Given the description of an element on the screen output the (x, y) to click on. 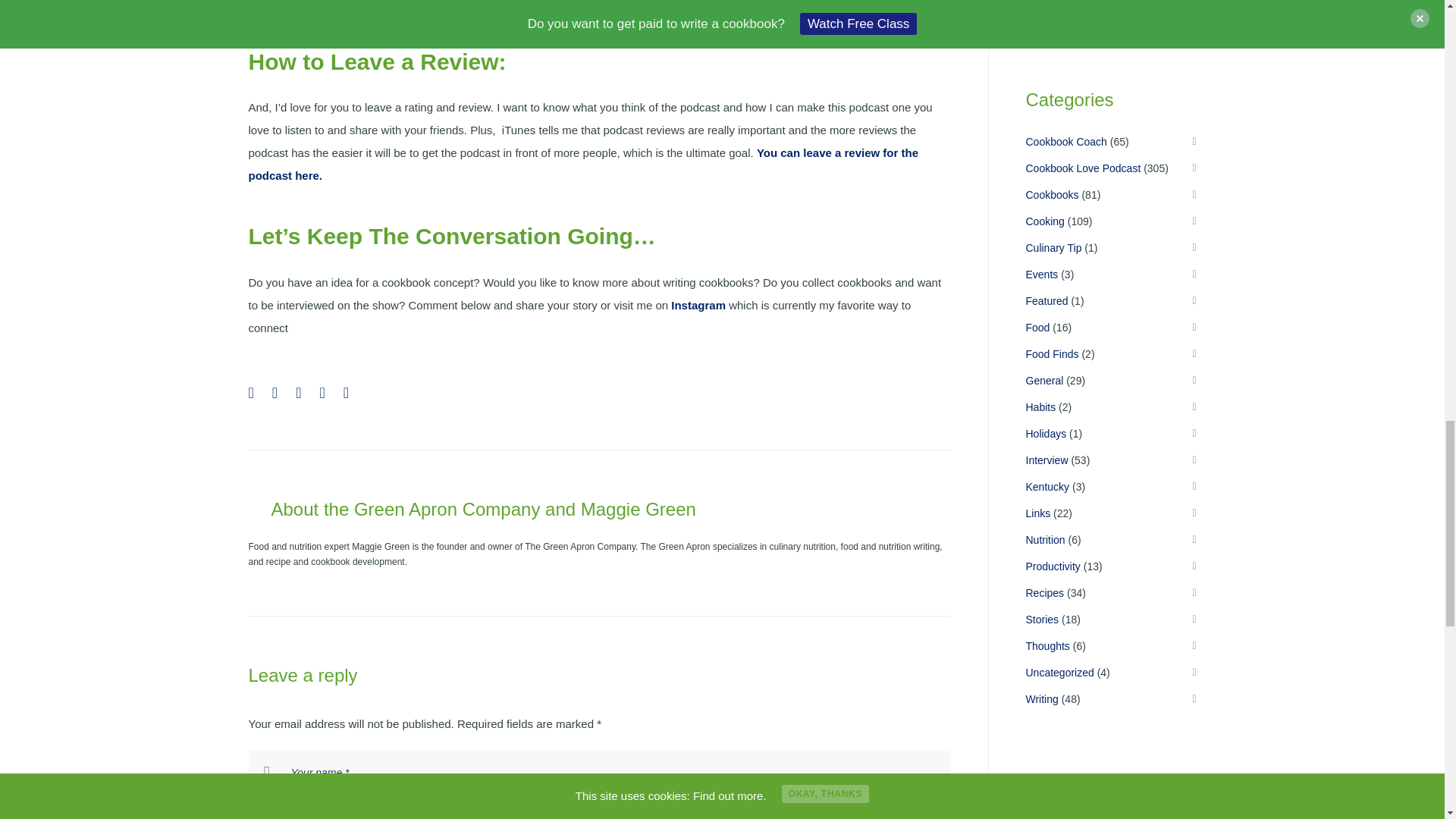
You can leave a review for the podcast here. (583, 163)
Posts by Green Apron Company and Maggie Green (524, 508)
Instagram (698, 305)
Green Apron Company and Maggie Green (524, 508)
